Given the description of an element on the screen output the (x, y) to click on. 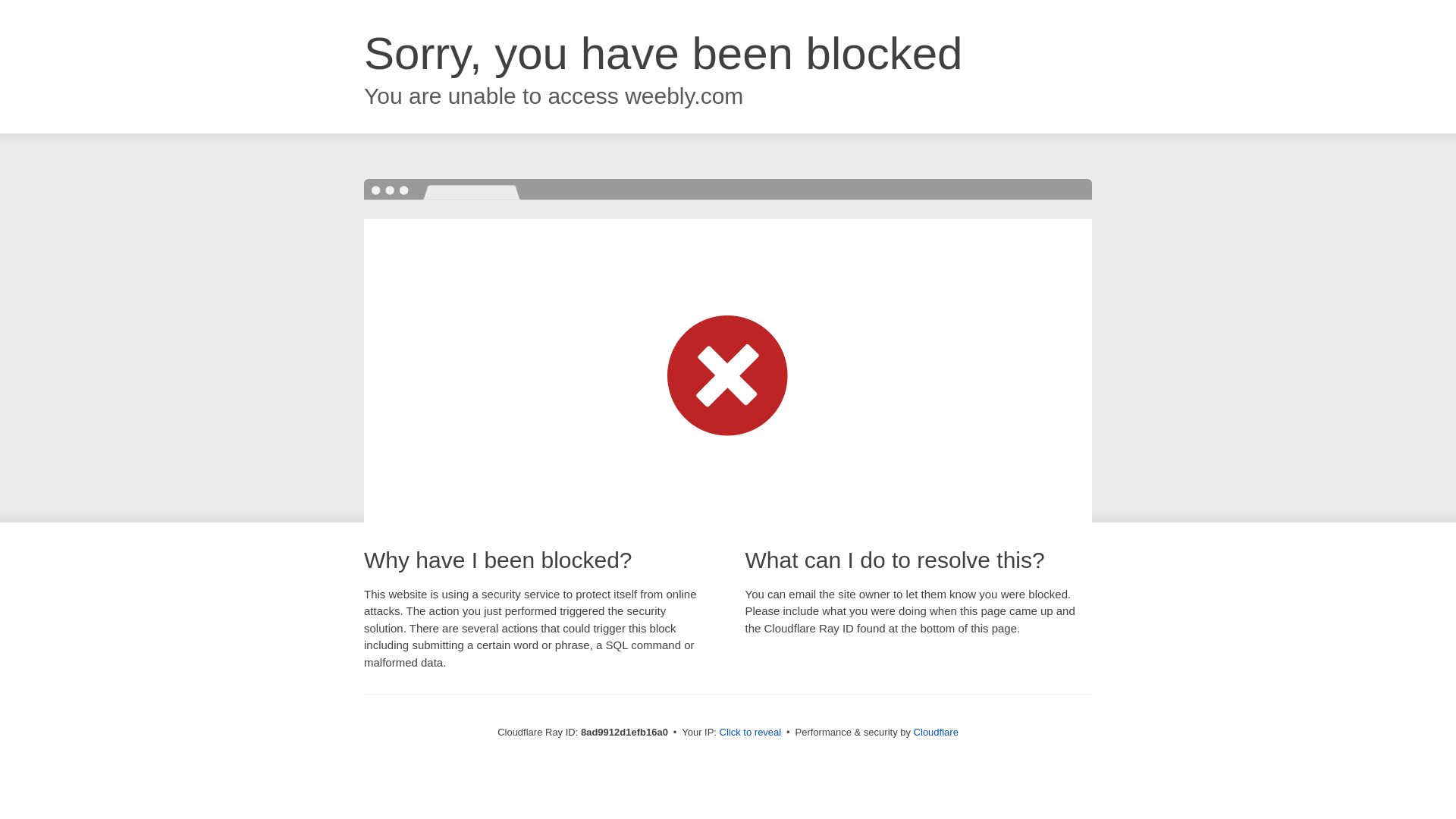
Click to reveal (750, 732)
Cloudflare (936, 731)
